Given the description of an element on the screen output the (x, y) to click on. 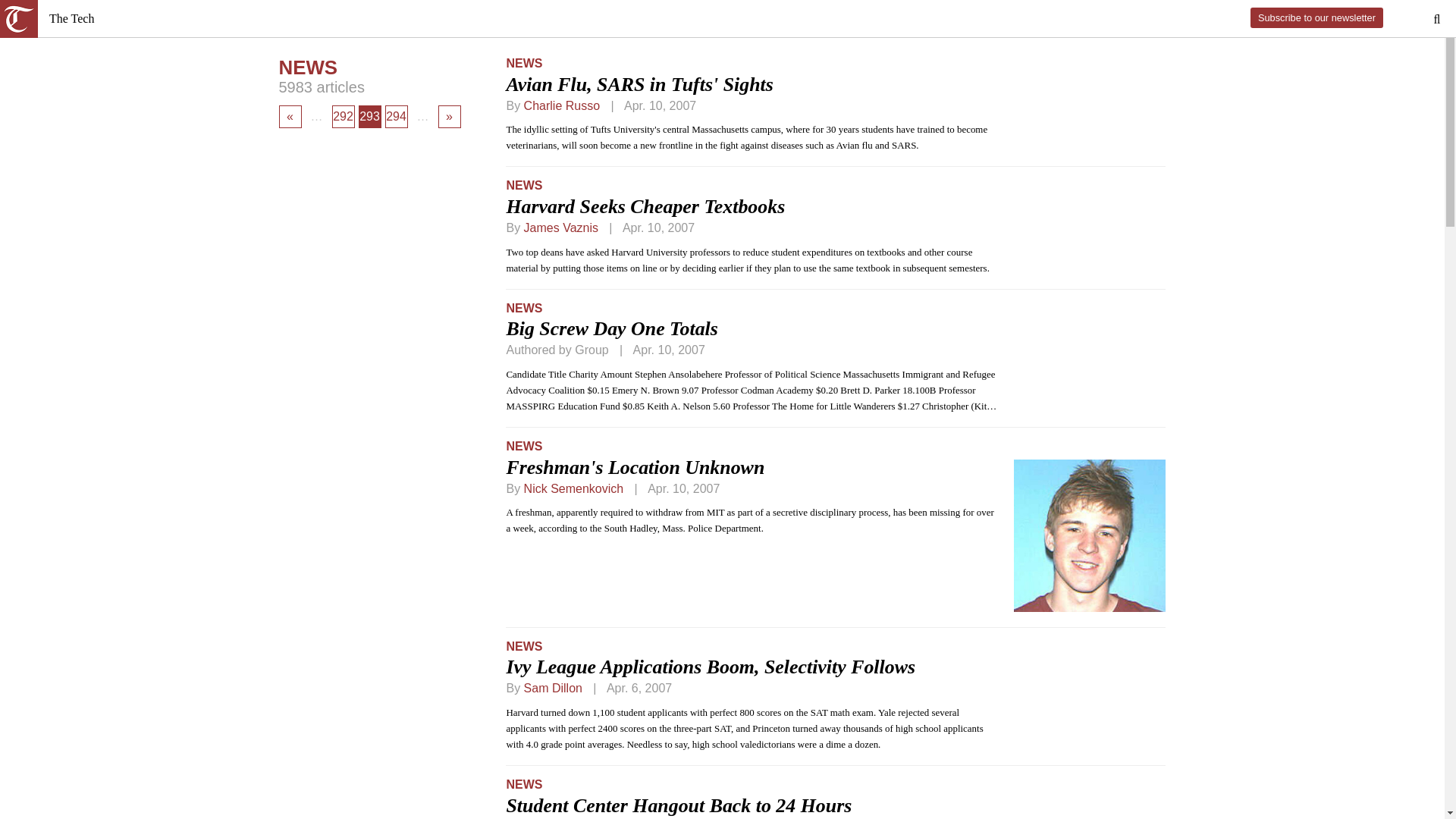
NEWS (523, 185)
Harvard Seeks Cheaper Textbooks (644, 206)
NEWS (523, 445)
Freshman's Location Unknown (634, 467)
294 (396, 116)
Avian Flu, SARS in Tufts' Sights (639, 84)
NEWS (523, 308)
292 (343, 116)
NEWS (523, 62)
Charlie Russo (561, 105)
